Given the description of an element on the screen output the (x, y) to click on. 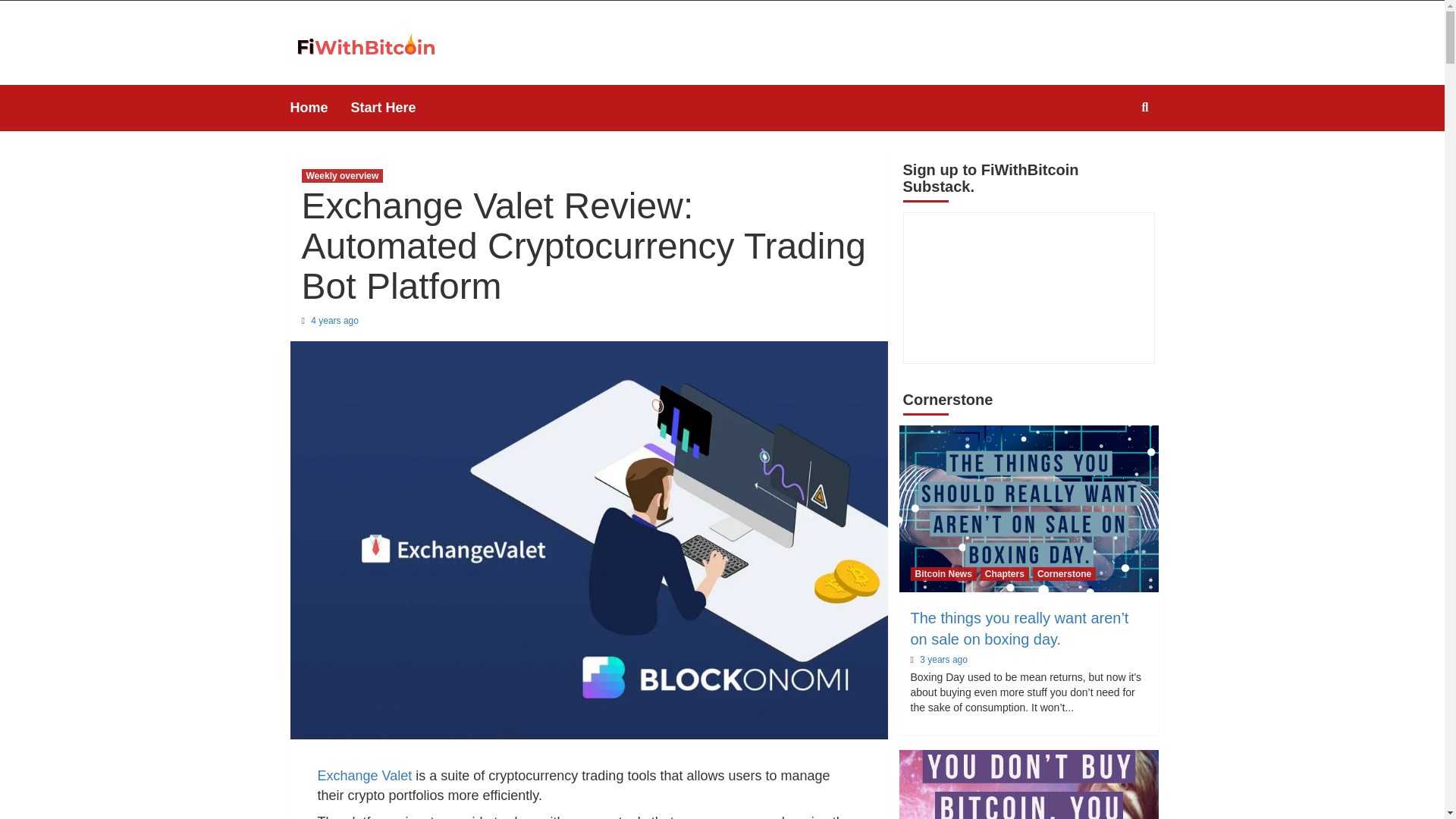
Weekly overview (342, 175)
Start Here (394, 108)
Exchange Valet (364, 775)
Search (1108, 156)
4 years ago (334, 320)
Bitcoin News (942, 573)
Home (319, 108)
